Given the description of an element on the screen output the (x, y) to click on. 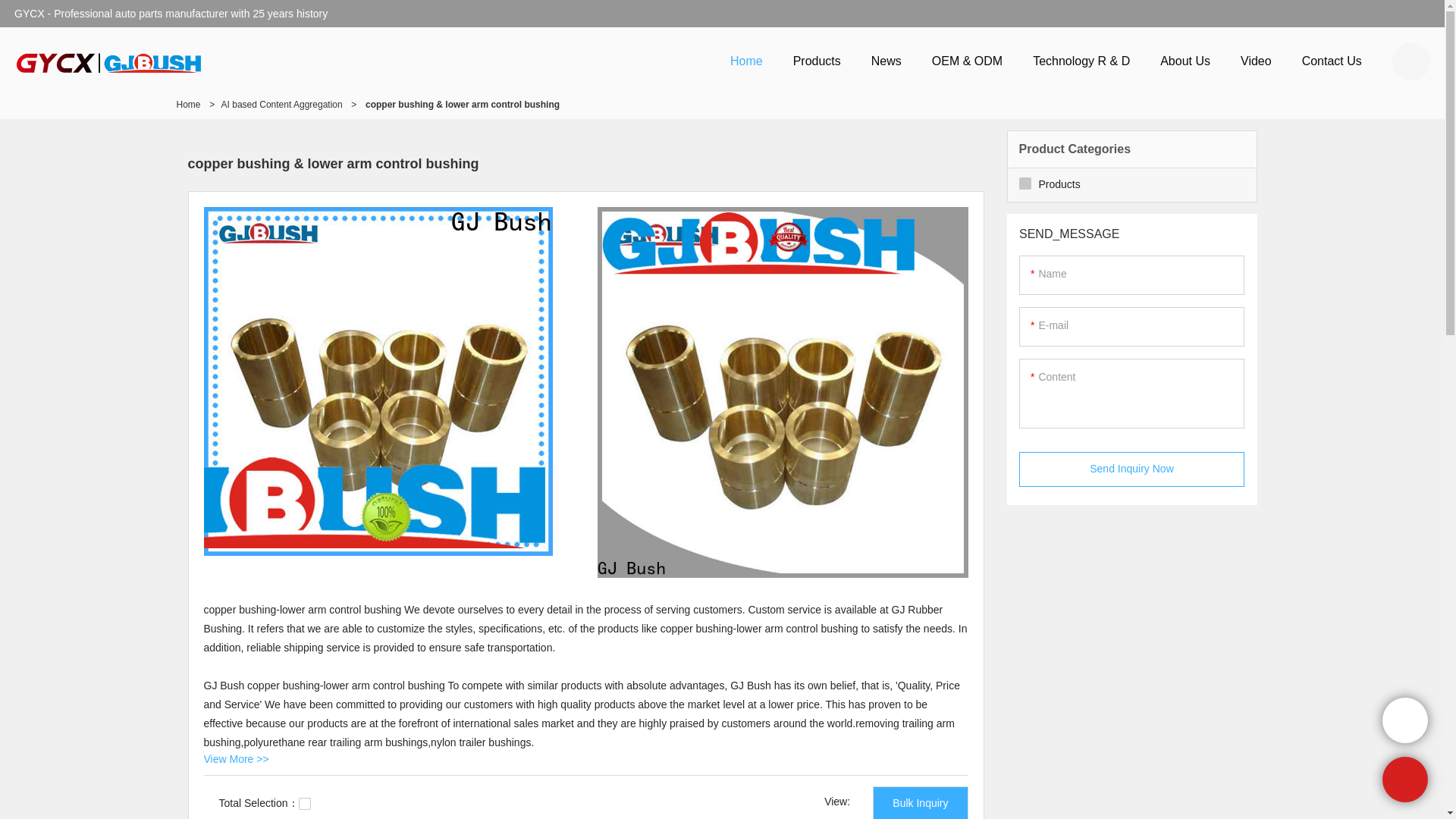
on (304, 803)
Contact Us (1332, 61)
Home (745, 61)
About Us (1184, 61)
AI based Content Aggregation (281, 104)
Home (188, 104)
Video (1256, 61)
Products (816, 61)
